Given the description of an element on the screen output the (x, y) to click on. 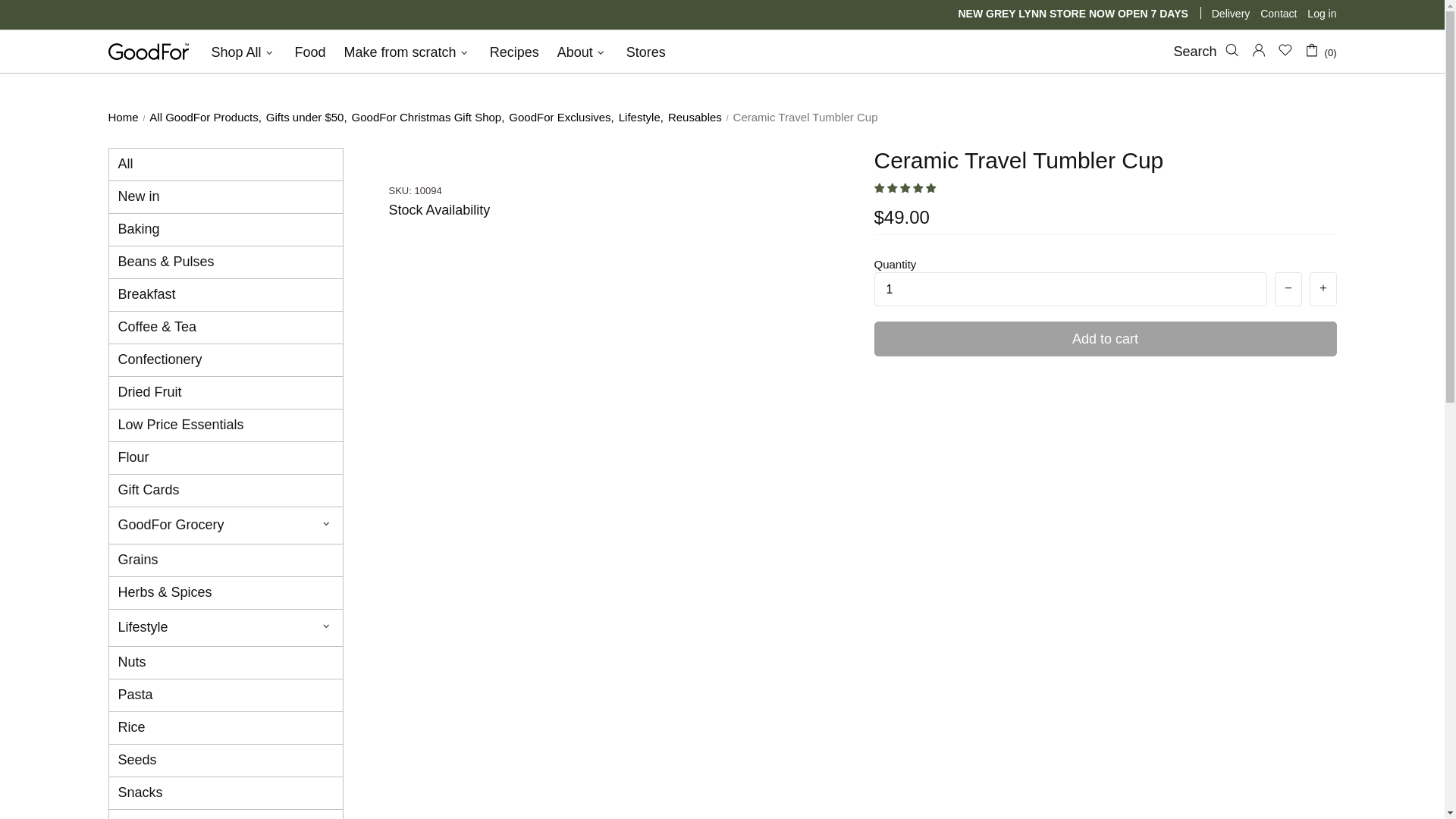
1 (1069, 288)
GoodFor (147, 51)
Contact (1278, 13)
Log in (1321, 13)
Shop All (244, 51)
Delivery (1230, 13)
NEW GREY LYNN STORE NOW OPEN 7 DAYS (1078, 13)
